Given the description of an element on the screen output the (x, y) to click on. 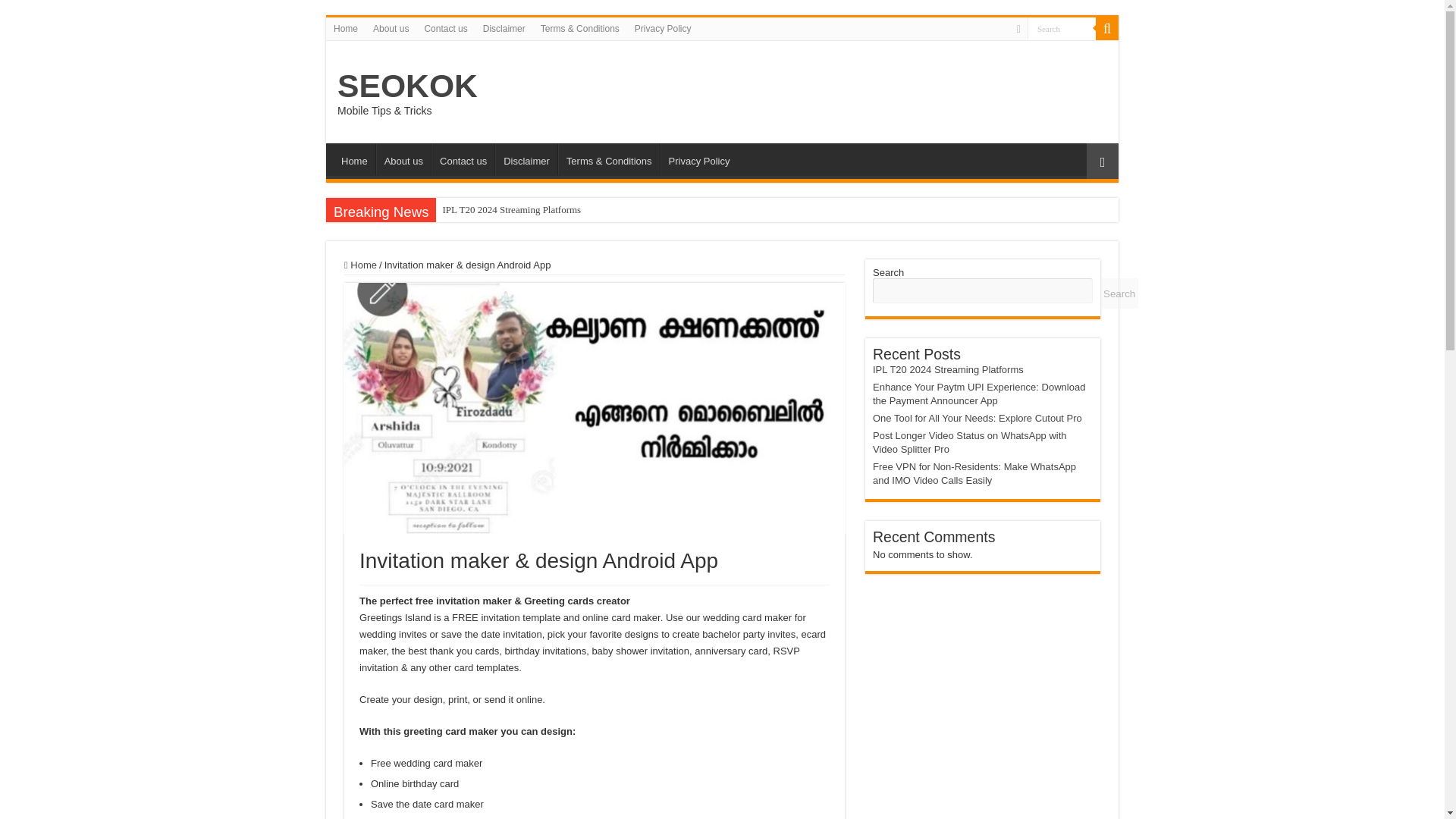
Home (354, 159)
Search (1061, 28)
Home (360, 265)
Privacy Policy (699, 159)
About us (402, 159)
Home (345, 28)
IPL T20 2024 Streaming Platforms (510, 209)
Disclaimer (526, 159)
Search (1061, 28)
Contact us (462, 159)
IPL T20 2024 Streaming Platforms (510, 209)
Privacy Policy (662, 28)
About us (390, 28)
Contact us (445, 28)
Disclaimer (504, 28)
